Given the description of an element on the screen output the (x, y) to click on. 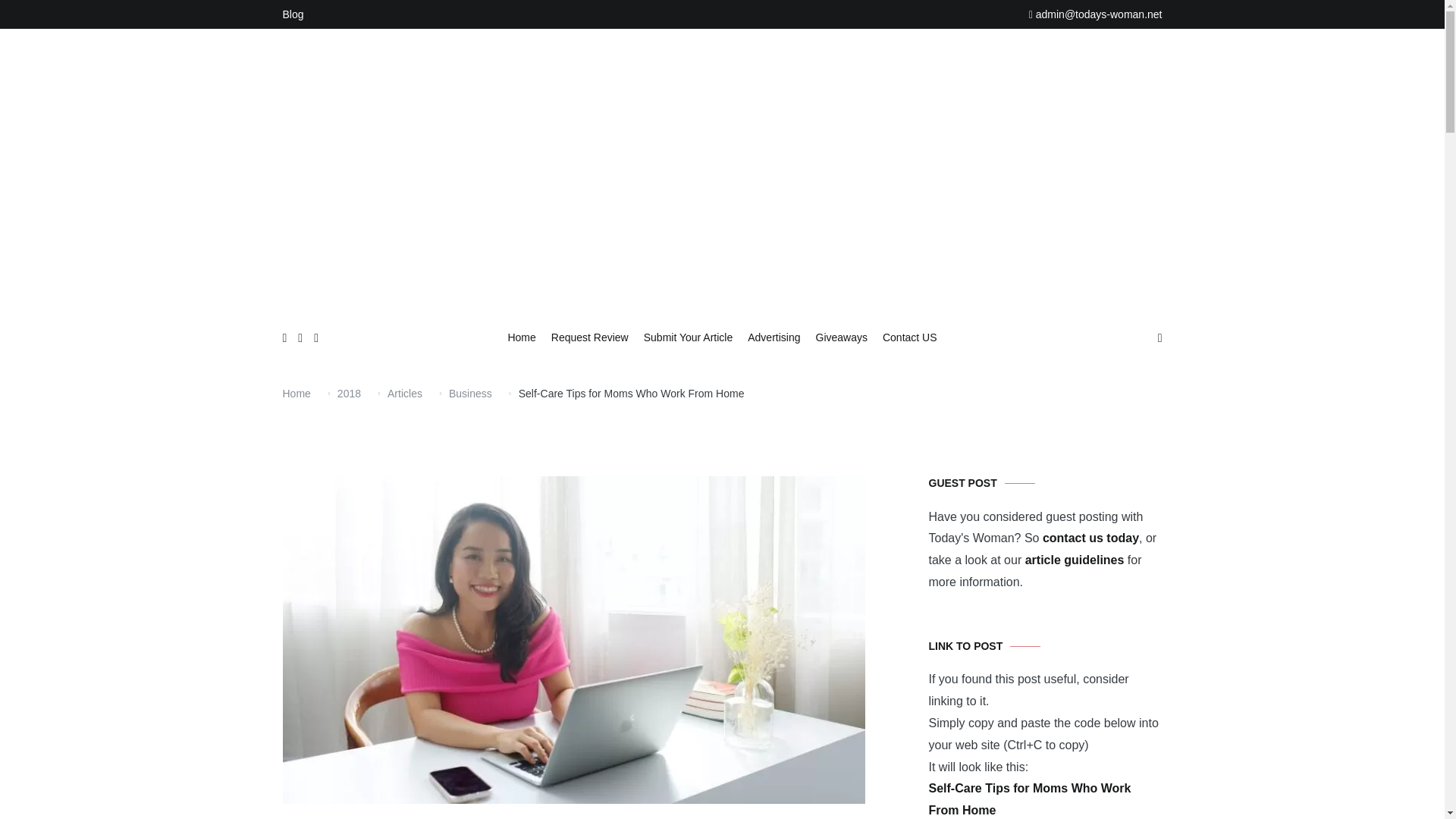
2018 (349, 393)
Request Review (589, 338)
Submit Your Article (688, 338)
Advertising (773, 338)
Articles (404, 393)
Business (470, 393)
Giveaways (841, 338)
Today's Woman, Articles, Product Reviews and Giveaways (829, 318)
Blog (292, 14)
Home (296, 393)
